Given the description of an element on the screen output the (x, y) to click on. 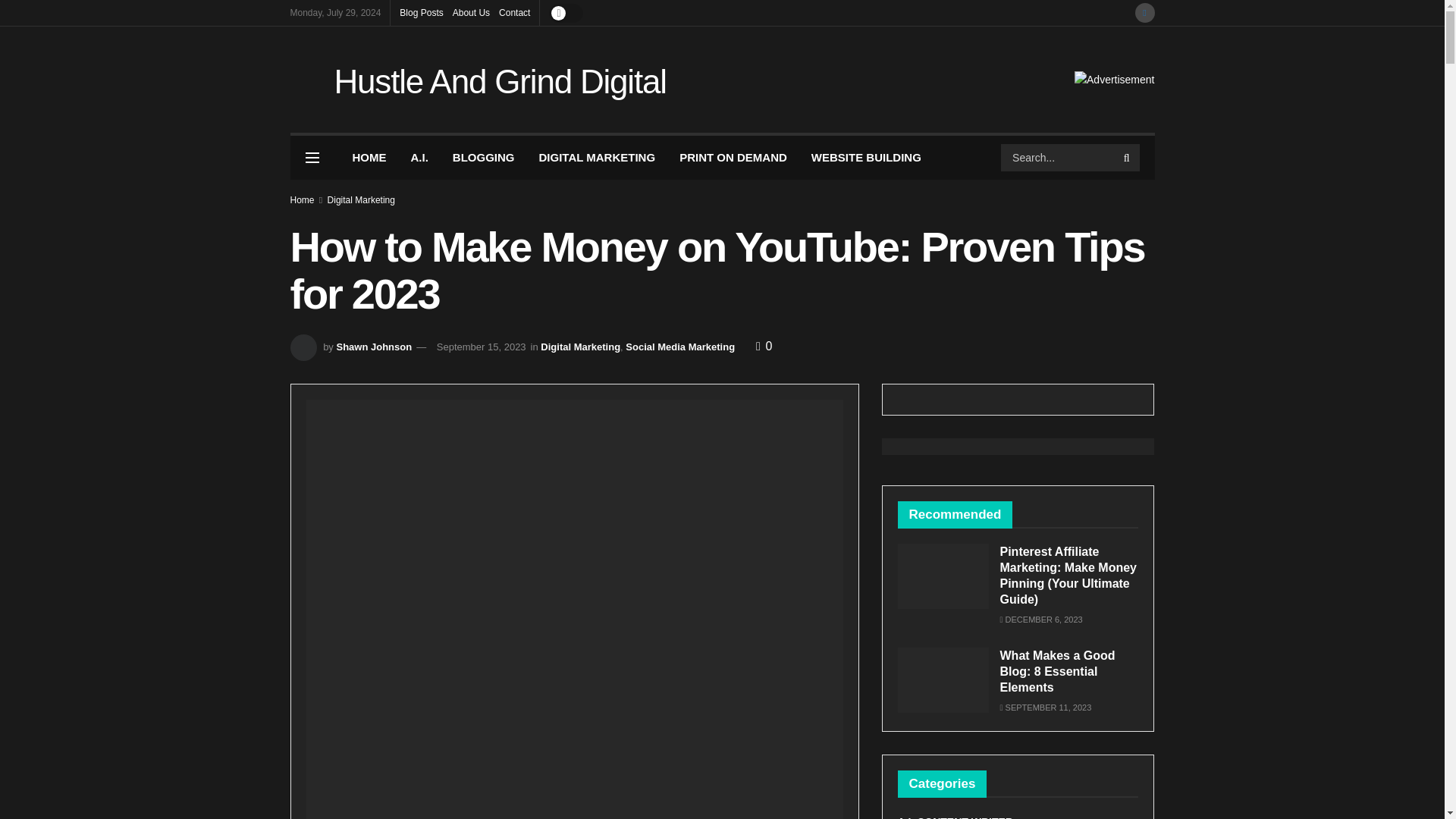
A.I. (419, 157)
Shawn Johnson (374, 346)
DIGITAL MARKETING (597, 157)
WEBSITE BUILDING (866, 157)
PRINT ON DEMAND (732, 157)
Blog Posts (420, 12)
Contact (514, 12)
Home (301, 199)
About Us (470, 12)
September 15, 2023 (480, 346)
Digital Marketing (580, 346)
HOME (368, 157)
Hustle And Grind Digital (499, 78)
Digital Marketing (360, 199)
0 (763, 345)
